Given the description of an element on the screen output the (x, y) to click on. 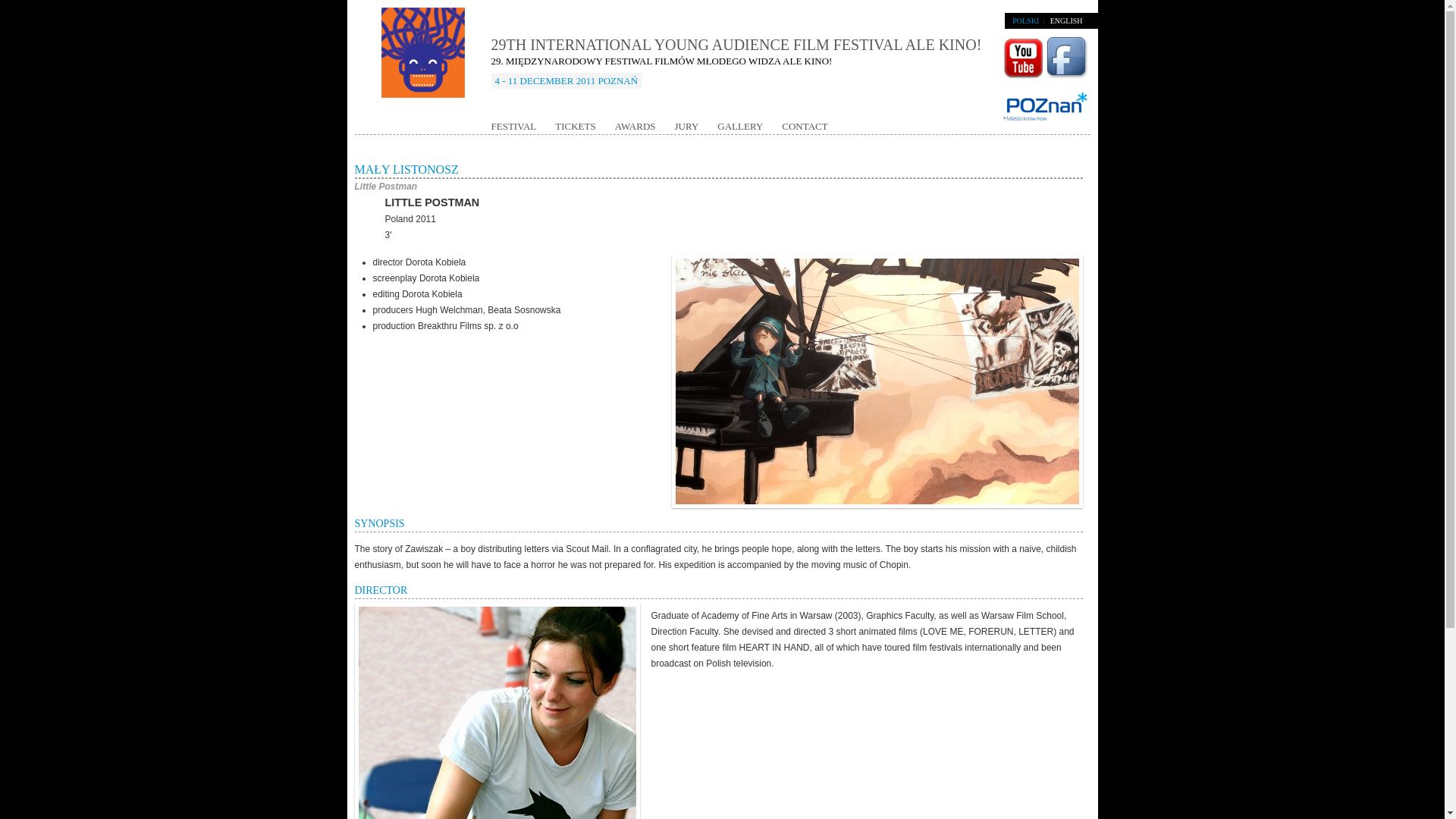
TICKETS (574, 125)
FESTIVAL (514, 125)
GALLERY (739, 125)
Ale Kino! (423, 67)
POLSKI (1025, 20)
CONTACT (804, 125)
AWARDS (635, 125)
ENGLISH (1066, 20)
JURY (686, 125)
